Given the description of an element on the screen output the (x, y) to click on. 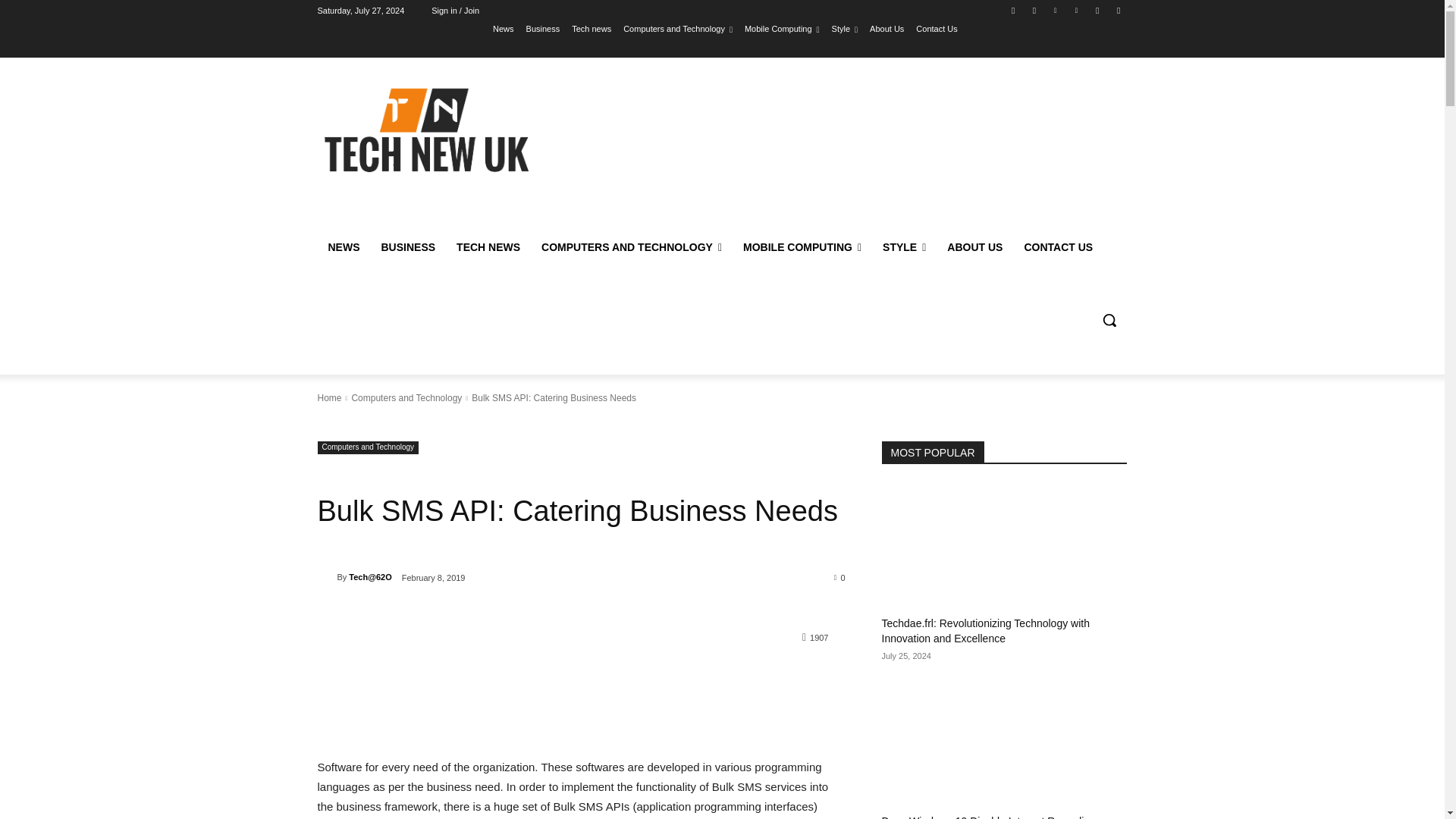
Contact Us (935, 28)
Youtube (1117, 9)
Tech news (591, 28)
Pinterest (1075, 9)
Business (542, 28)
Linkedin (1055, 9)
View all posts in Computers and Technology (405, 398)
About Us (886, 28)
Mobile Computing (781, 28)
Instagram (1034, 9)
Twitter (1097, 9)
Facebook (1013, 9)
Style (845, 28)
Computers and Technology (677, 28)
News (503, 28)
